Given the description of an element on the screen output the (x, y) to click on. 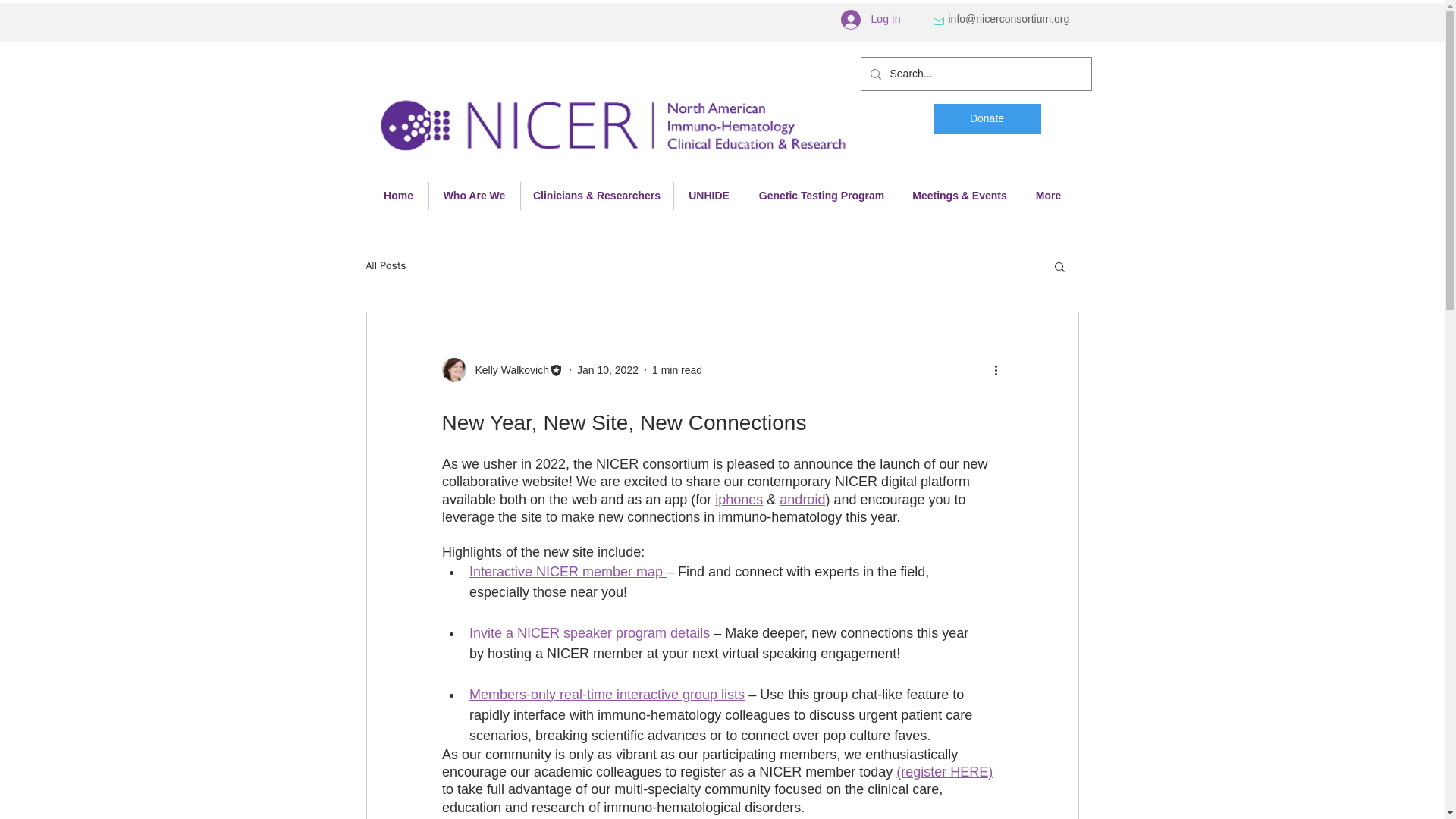
1 min read (676, 369)
All Posts (385, 265)
Log In (870, 19)
Genetic Testing Program (821, 195)
Who Are We (474, 195)
Interactive NICER member map  (566, 571)
UNHIDE (708, 195)
Kelly Walkovich (506, 370)
Home (398, 195)
iphones (738, 499)
